Given the description of an element on the screen output the (x, y) to click on. 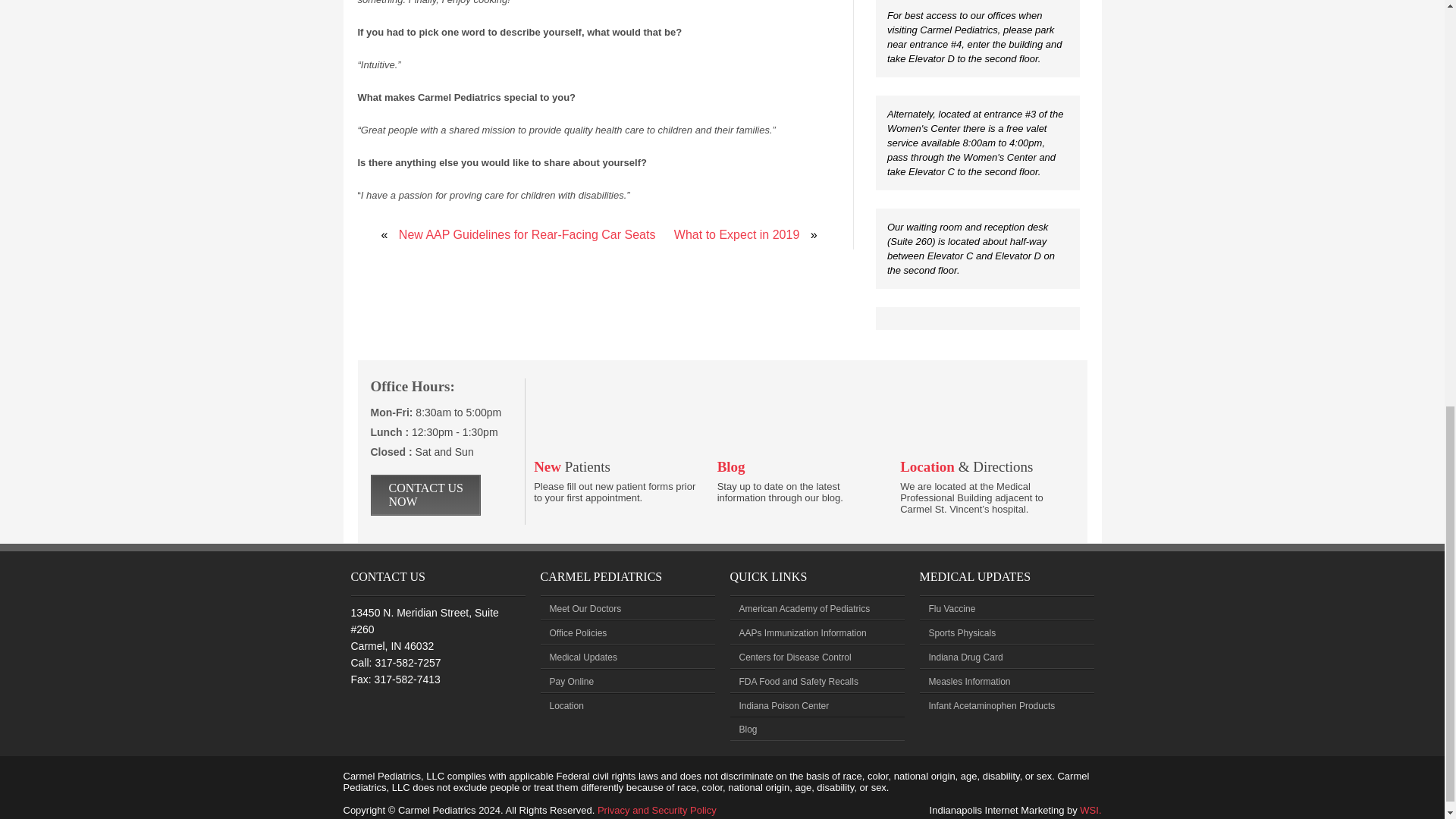
What to Expect in 2019 (736, 234)
New AAP Guidelines for Rear-Facing Car Seats (527, 234)
